Given the description of an element on the screen output the (x, y) to click on. 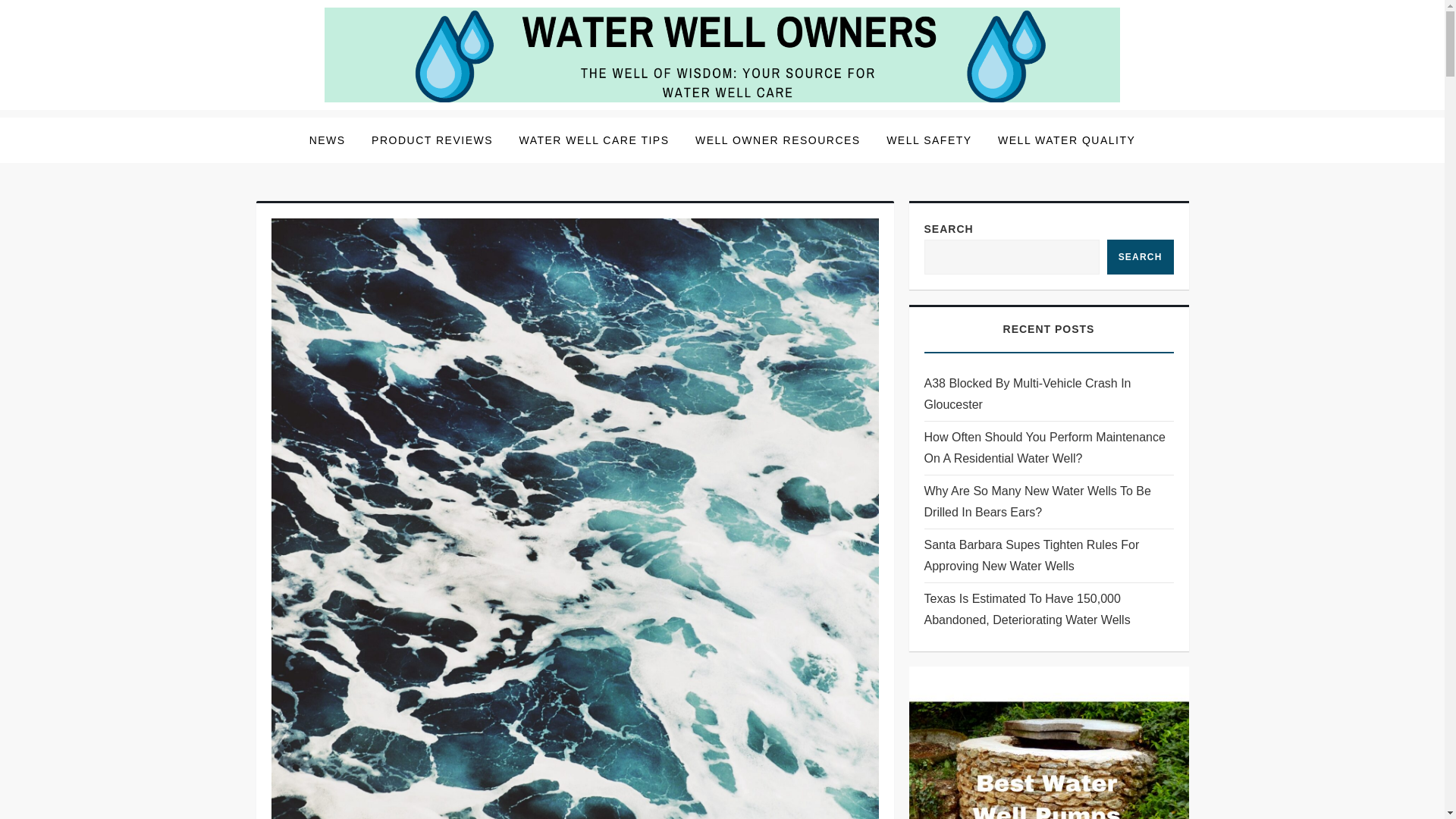
Water Well Owners (385, 120)
PRODUCT REVIEWS (431, 139)
WATER WELL CARE TIPS (592, 139)
WELL OWNER RESOURCES (778, 139)
WELL WATER QUALITY (1067, 139)
WELL SAFETY (928, 139)
NEWS (327, 139)
